Given the description of an element on the screen output the (x, y) to click on. 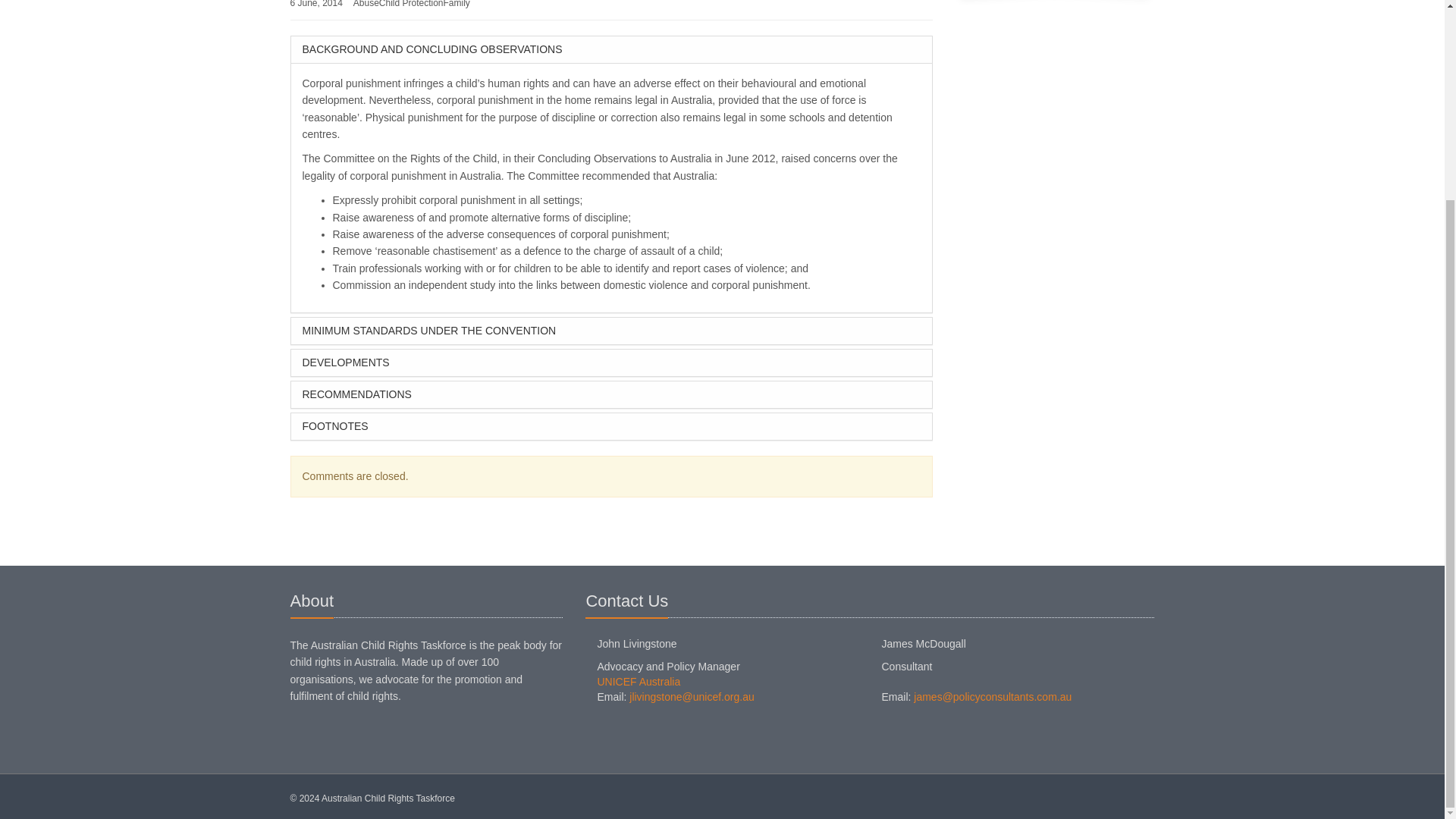
MINIMUM STANDARDS UNDER THE CONVENTION (612, 330)
RECOMMENDATIONS (612, 394)
BACKGROUND AND CONCLUDING OBSERVATIONS (612, 49)
DEVELOPMENTS (612, 362)
UNICEF Australia (637, 681)
FOOTNOTES (612, 426)
